Given the description of an element on the screen output the (x, y) to click on. 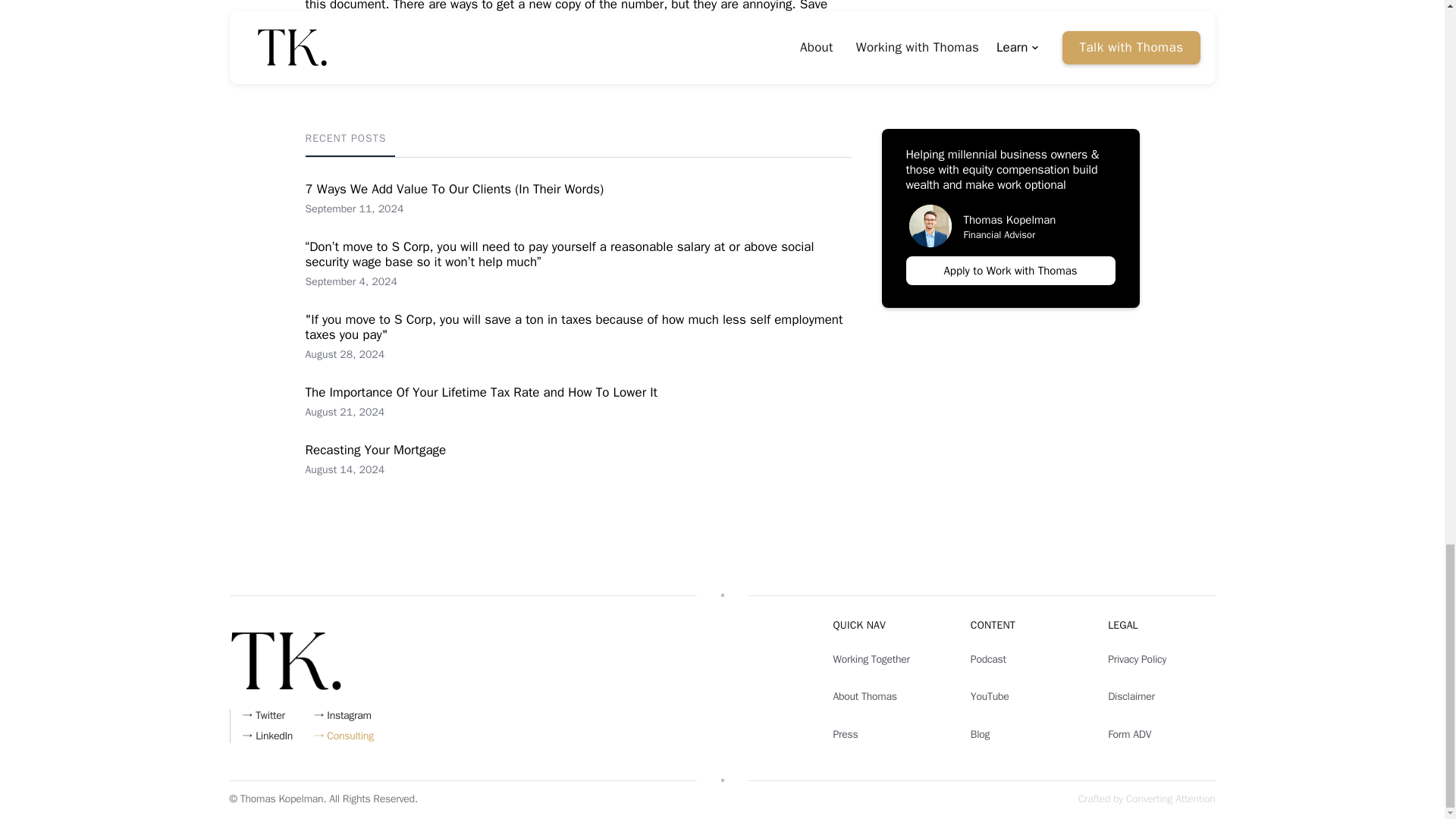
Working Together (885, 659)
About Thomas (885, 696)
Disclaimer (1161, 696)
Form ADV (1161, 733)
Blog (1024, 733)
YouTube (1024, 696)
Podcast (1024, 659)
Press (374, 460)
Crafted by Converting Attention (885, 733)
Privacy Policy (1146, 798)
